Given the description of an element on the screen output the (x, y) to click on. 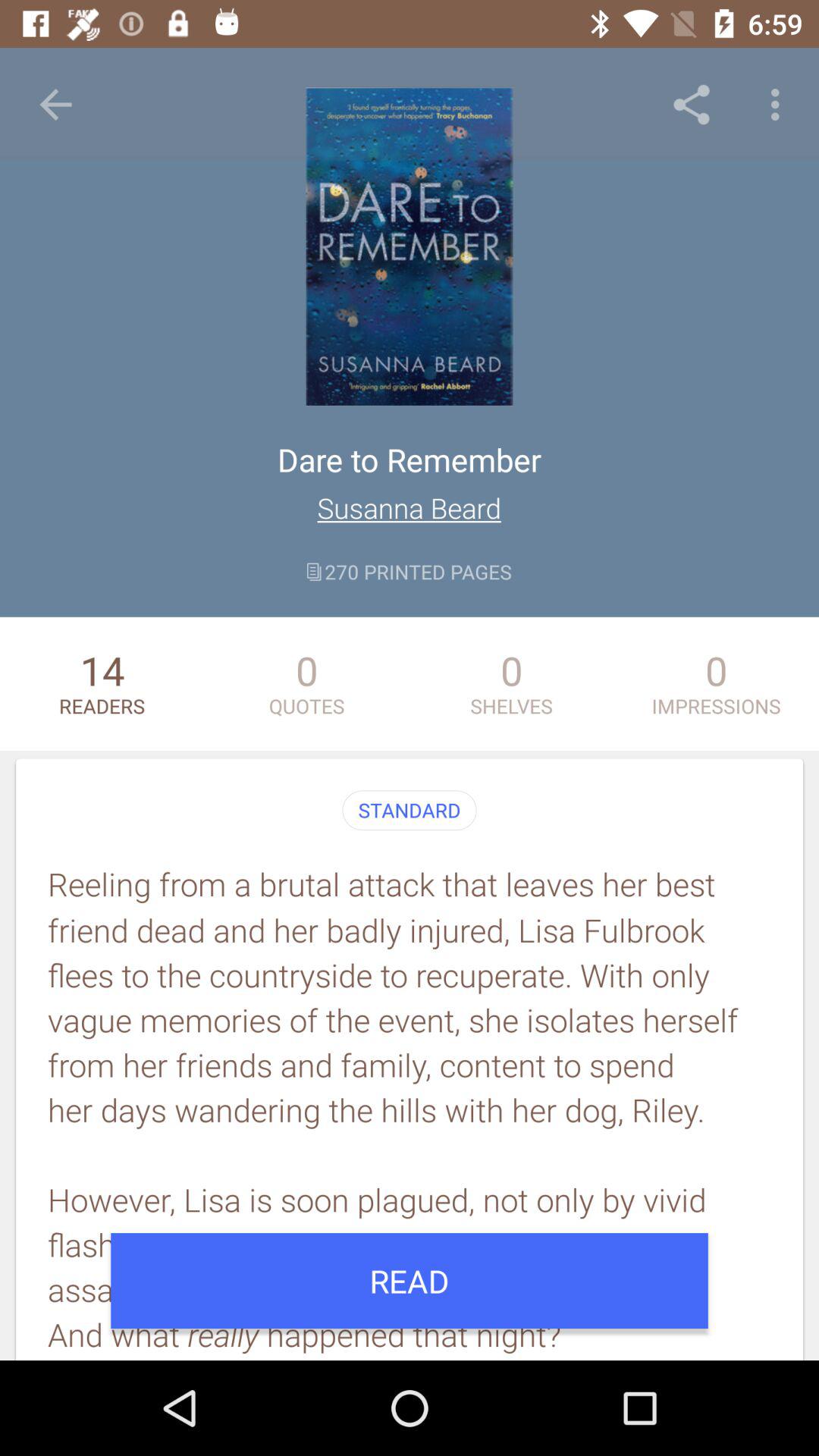
press the icon at the top left corner (55, 104)
